Given the description of an element on the screen output the (x, y) to click on. 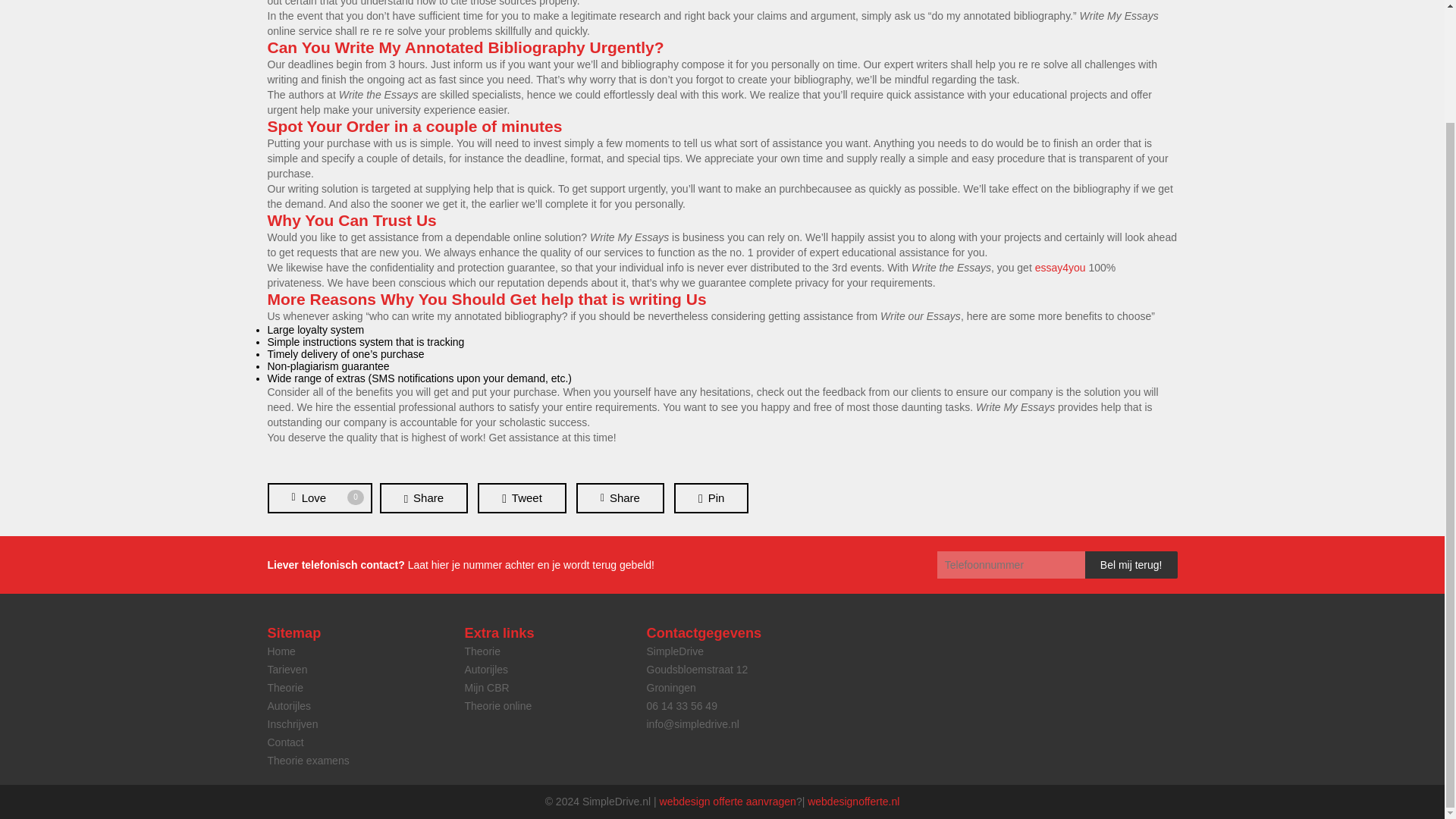
Pin (711, 498)
Contact (284, 742)
Home (280, 651)
Share (619, 498)
Share this (619, 498)
Pin this (711, 498)
Autorijles (288, 705)
Theorie examens (307, 760)
Tweet this (521, 498)
webdesignofferte.nl (853, 801)
